Given the description of an element on the screen output the (x, y) to click on. 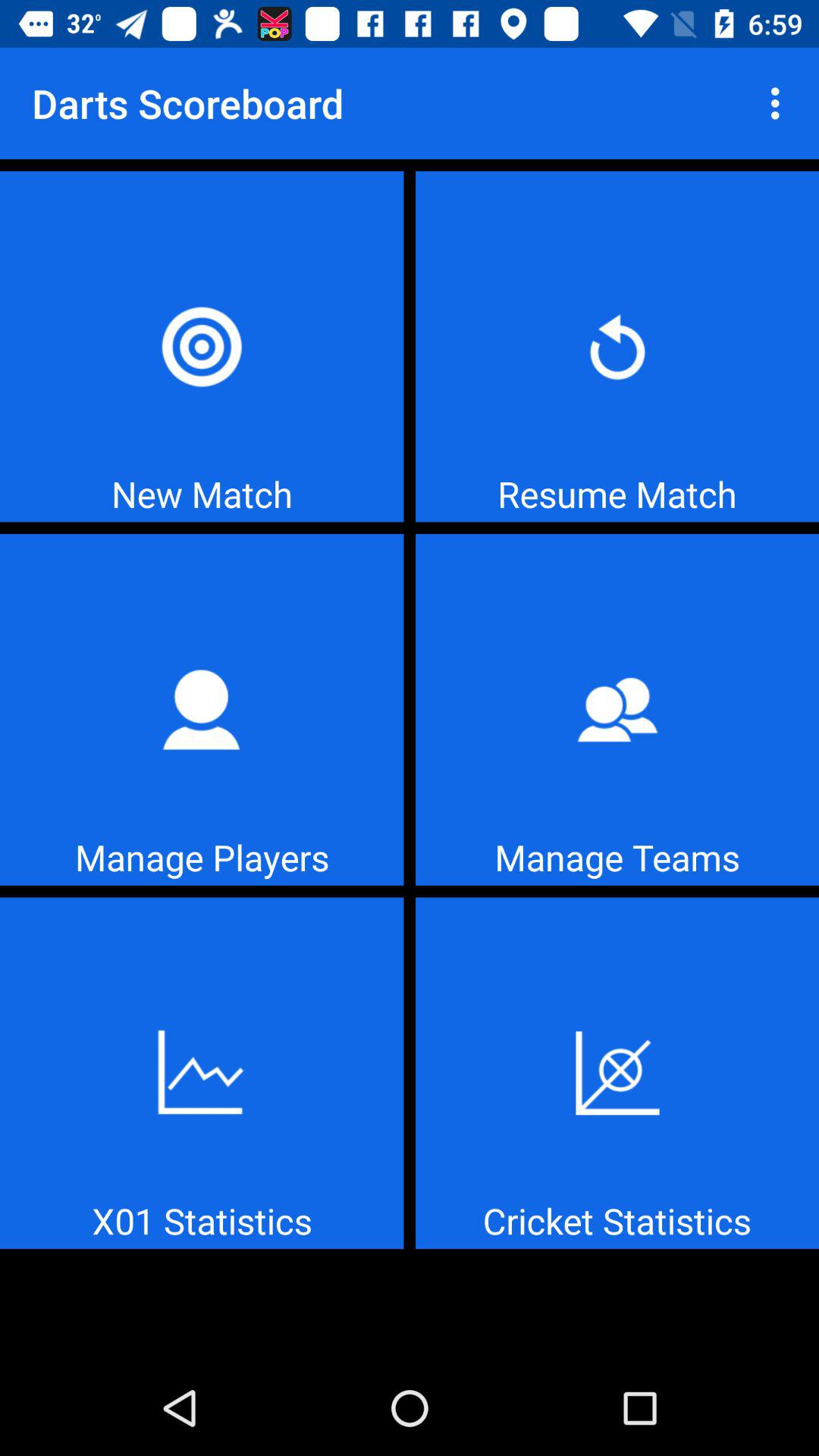
open statistics (201, 1072)
